Given the description of an element on the screen output the (x, y) to click on. 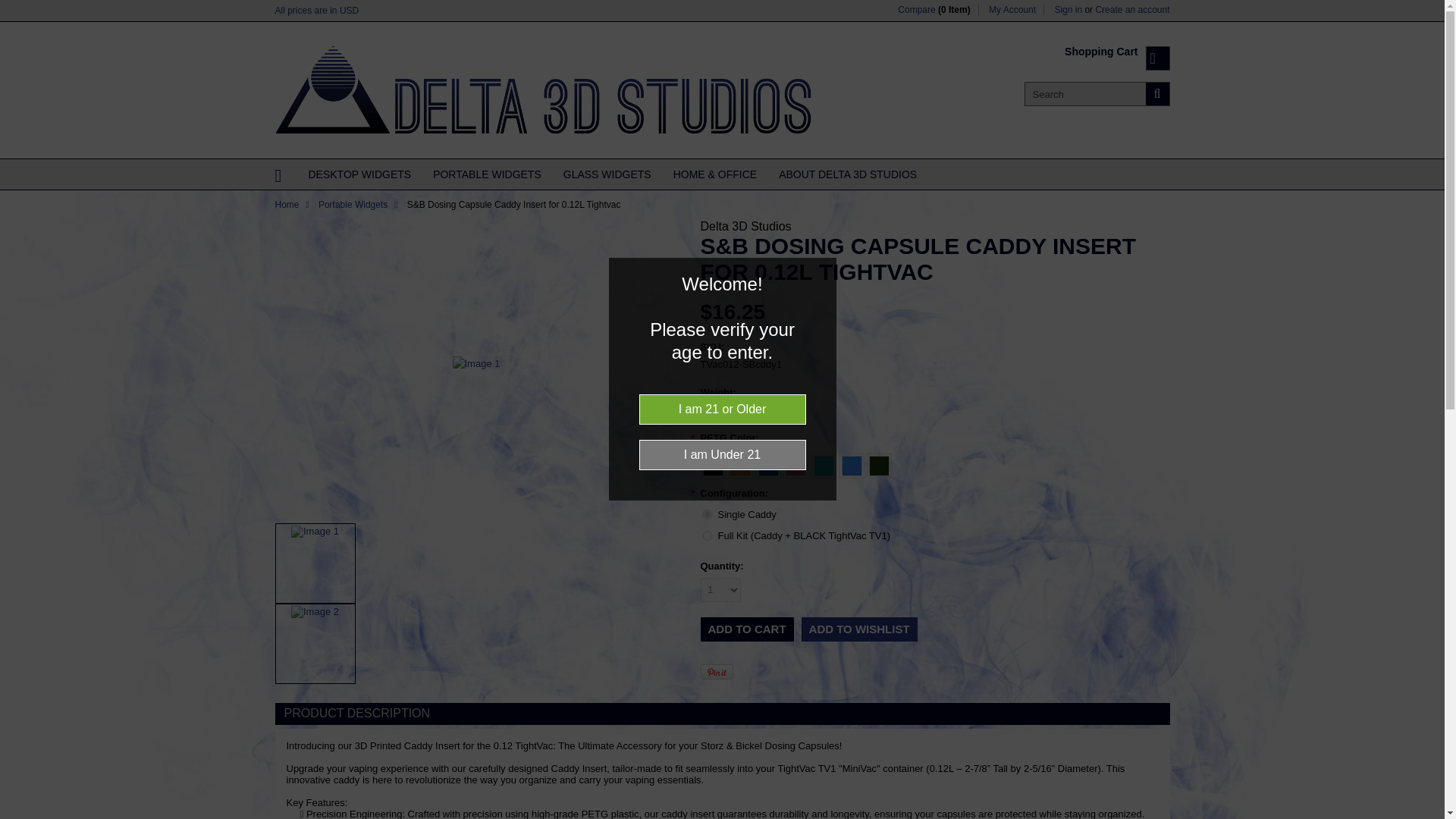
I am 21 or Older (722, 409)
Image 2 (314, 611)
199 (707, 535)
US Dollars (348, 9)
Image 1 (314, 531)
Create an account (1131, 9)
Add to Wishlist (859, 629)
Image 1 (475, 363)
DESKTOP WIDGETS (358, 173)
All prices are in USD (316, 10)
